Given the description of an element on the screen output the (x, y) to click on. 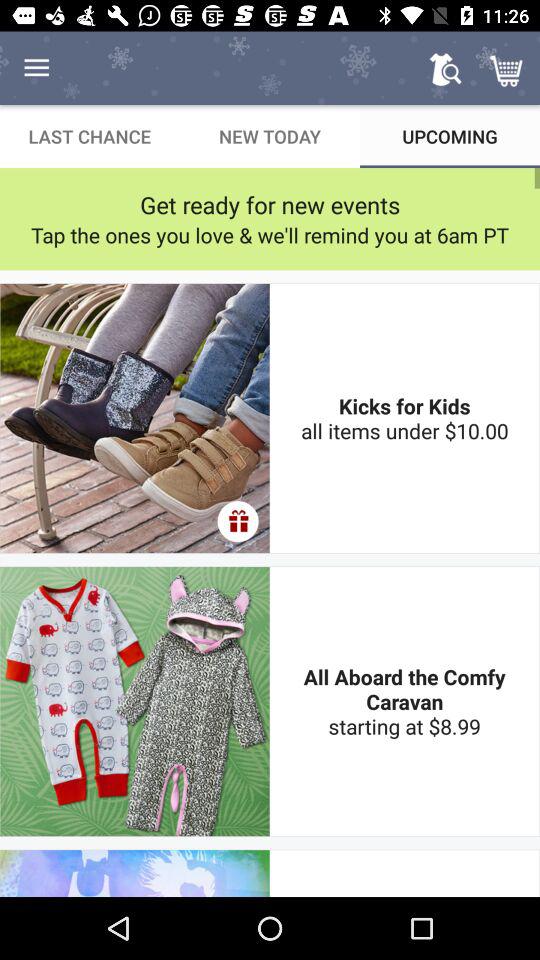
swipe to one day zumba icon (404, 873)
